Given the description of an element on the screen output the (x, y) to click on. 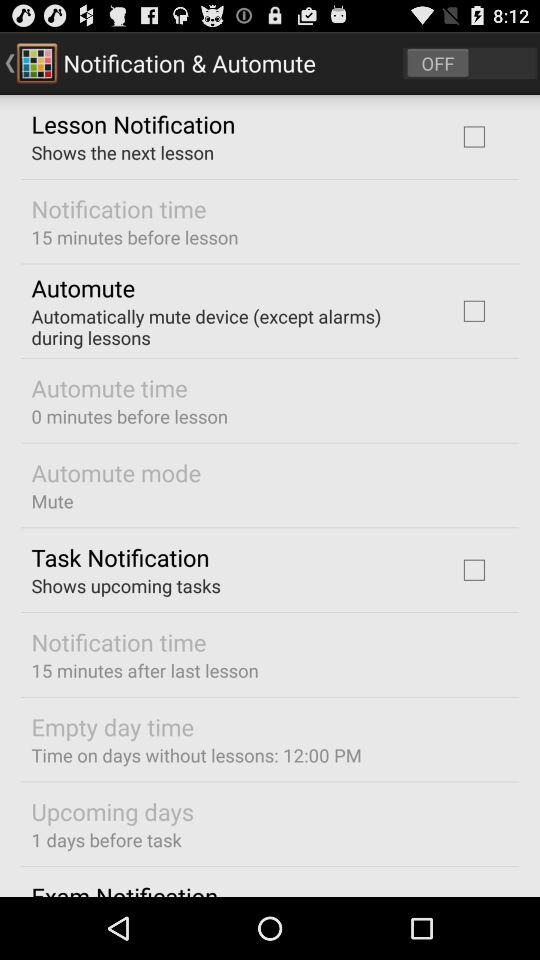
launch icon above notification time item (125, 585)
